Given the description of an element on the screen output the (x, y) to click on. 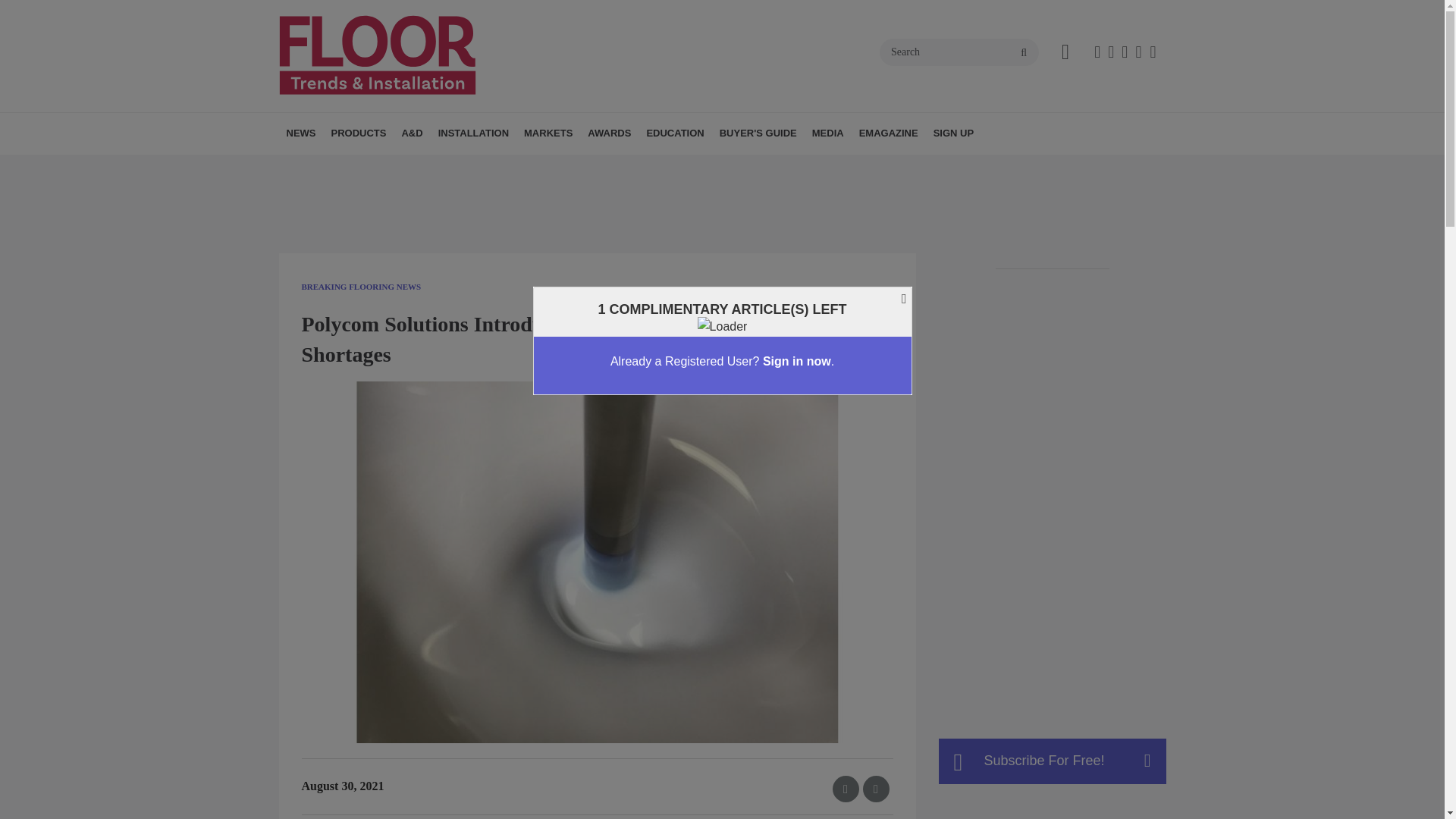
NEWS (301, 133)
EDUCATION (675, 133)
RESILIENT (448, 166)
LAMINATE (443, 166)
BREAKING FLOORING NEWS (373, 166)
INSTALLATION AWARDS (674, 166)
HARDWOOD (424, 166)
TOP FLOORING PRODUCTS (682, 166)
RESIDENTIAL (618, 166)
PRODUCTS (358, 133)
